Given the description of an element on the screen output the (x, y) to click on. 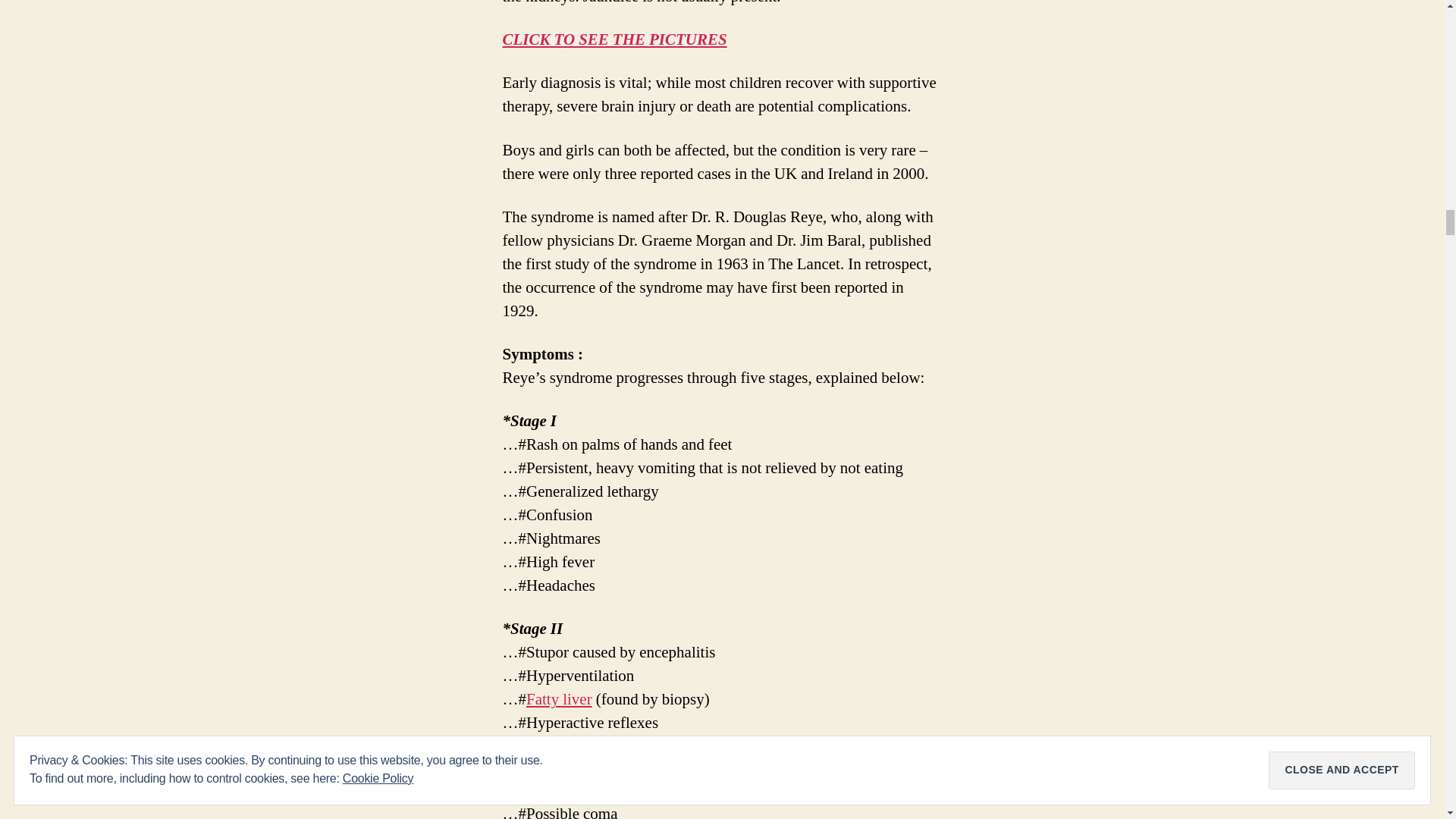
Fatty Liver Disease (558, 699)
